Given the description of an element on the screen output the (x, y) to click on. 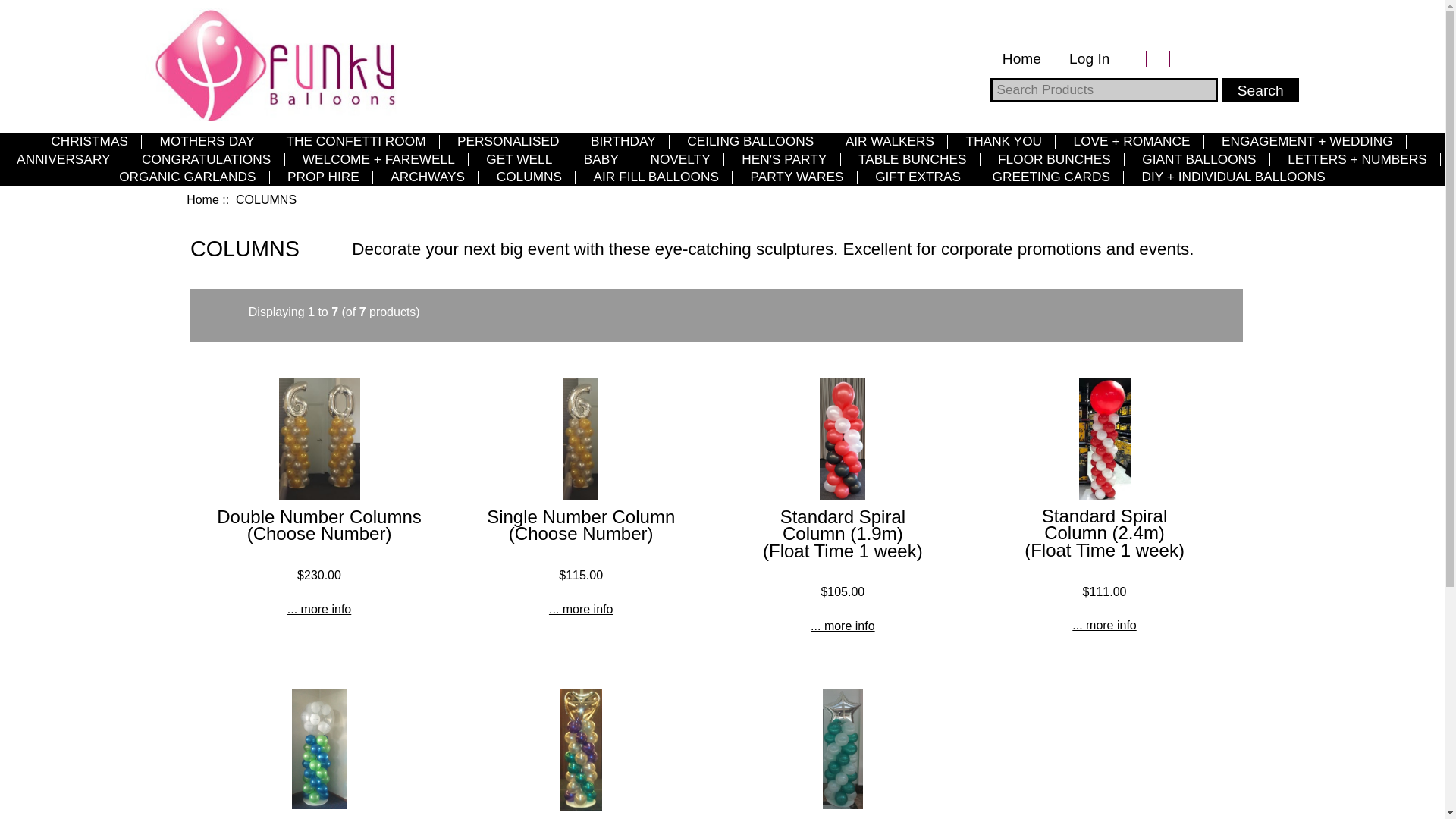
Search Element type: text (1260, 90)
 Single Number Column (Choose Number)  Element type: hover (580, 438)
... more info Element type: text (1103, 624)
BIRTHDAY Element type: text (622, 140)
 Heart Topped Spiral Column (Float Time 1 week)  Element type: hover (580, 749)
 Standard Spiral Column (1.9m) (Float Time 1 week)  Element type: hover (842, 438)
Log In Element type: text (1089, 58)
AIR WALKERS Element type: text (889, 140)
CEILING BALLOONS Element type: text (750, 140)
CHRISTMAS Element type: text (89, 140)
HEN'S PARTY Element type: text (784, 159)
Home Element type: text (1021, 58)
 Funky Balloons, Perth (WA) - Balloon Delivery Online  Element type: hover (270, 64)
AIR FILL BALLOONS Element type: text (655, 176)
TABLE BUNCHES Element type: text (912, 159)
NOVELTY Element type: text (680, 159)
ARCHWAYS Element type: text (427, 176)
ANNIVERSARY Element type: text (63, 159)
LETTERS + NUMBERS Element type: text (1357, 159)
ORGANIC GARLANDS Element type: text (187, 176)
CONGRATULATIONS Element type: text (206, 159)
PARTY WARES Element type: text (796, 176)
 Double Number Columns (Choose Number)  Element type: hover (319, 438)
GIANT BALLOONS Element type: text (1199, 159)
... more info Element type: text (842, 625)
THANK YOU Element type: text (1003, 140)
BABY Element type: text (601, 159)
WELCOME + FAREWELL Element type: text (378, 159)
Standard Spiral
Column (2.4m)
(Float Time 1 week) Element type: text (1104, 532)
GIFT EXTRAS Element type: text (917, 176)
COLUMNS Element type: text (528, 176)
GREETING CARDS Element type: text (1051, 176)
Double Number Columns (Choose Number) Element type: text (318, 524)
 Standard Spiral Column (2.4m) (Float Time 1 week)  Element type: hover (1104, 438)
PROP HIRE Element type: text (323, 176)
ENGAGEMENT + WEDDING Element type: text (1306, 140)
 Star Topped Spiral Column (Float Time 1 week)  Element type: hover (842, 748)
Standard Spiral
Column (1.9m)
(Float Time 1 week) Element type: text (842, 533)
Home Element type: text (202, 199)
PERSONALISED Element type: text (508, 140)
THE CONFETTI ROOM Element type: text (356, 140)
MOTHERS DAY Element type: text (206, 140)
DIY + INDIVIDUAL BALLOONS Element type: text (1233, 176)
 Gumball Topped Spiral Column (Float Time 1 week)  Element type: hover (318, 748)
GET WELL Element type: text (519, 159)
LOVE + ROMANCE Element type: text (1131, 140)
Single Number Column (Choose Number) Element type: text (580, 524)
... more info Element type: text (580, 608)
... more info Element type: text (319, 608)
FLOOR BUNCHES Element type: text (1054, 159)
